Given the description of an element on the screen output the (x, y) to click on. 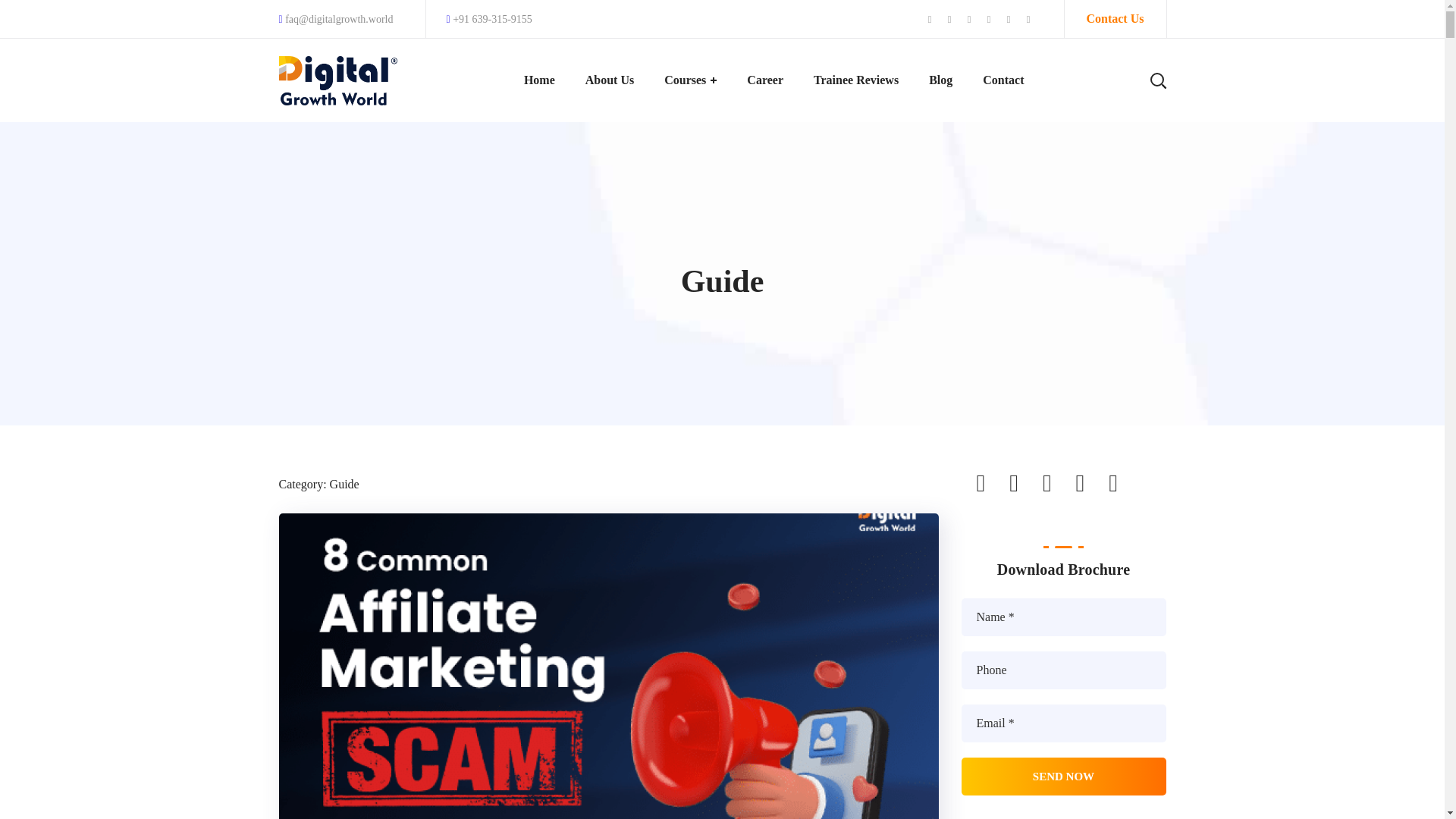
SEND NOW (1063, 776)
Contact Us (1114, 18)
Trainee Reviews (855, 80)
About Us (609, 80)
Search (1110, 30)
Search (1110, 152)
Courses (690, 80)
